Given the description of an element on the screen output the (x, y) to click on. 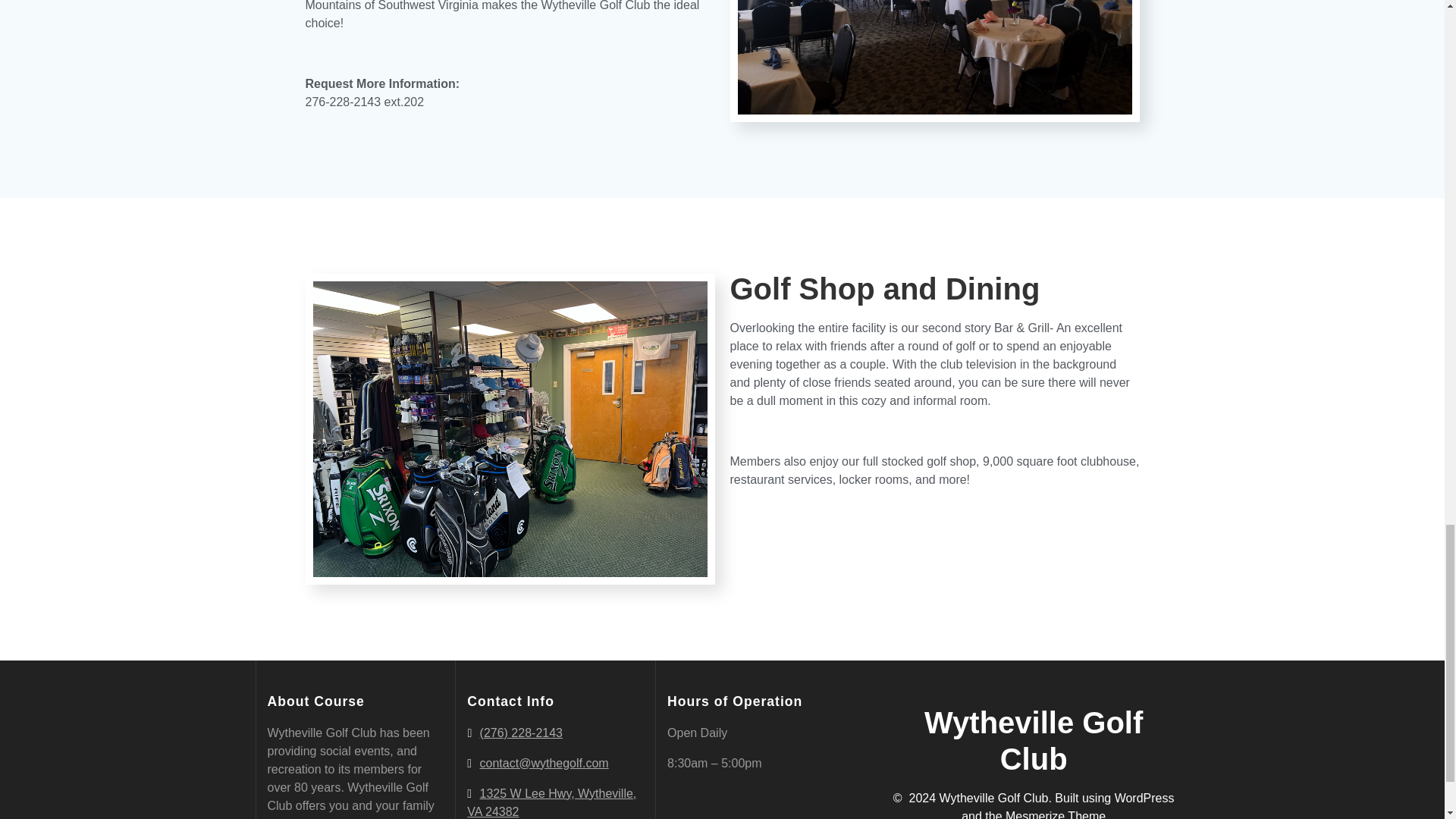
1325 W Lee Hwy, Wytheville, VA 24382 (551, 802)
Mesmerize Theme (1055, 814)
